Given the description of an element on the screen output the (x, y) to click on. 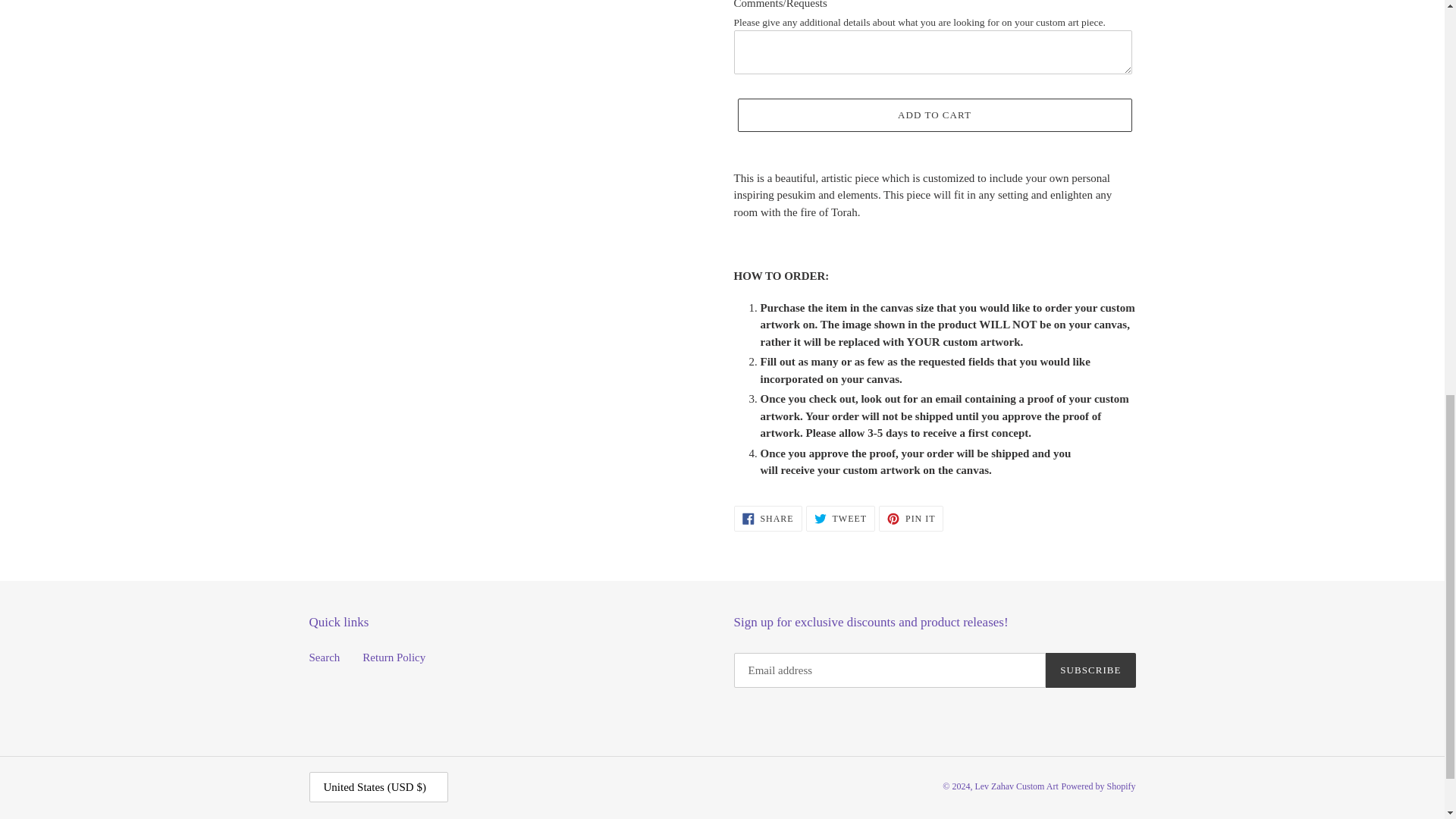
SUBSCRIBE (1090, 669)
Search (840, 518)
ADD TO CART (767, 518)
Return Policy (324, 657)
